Given the description of an element on the screen output the (x, y) to click on. 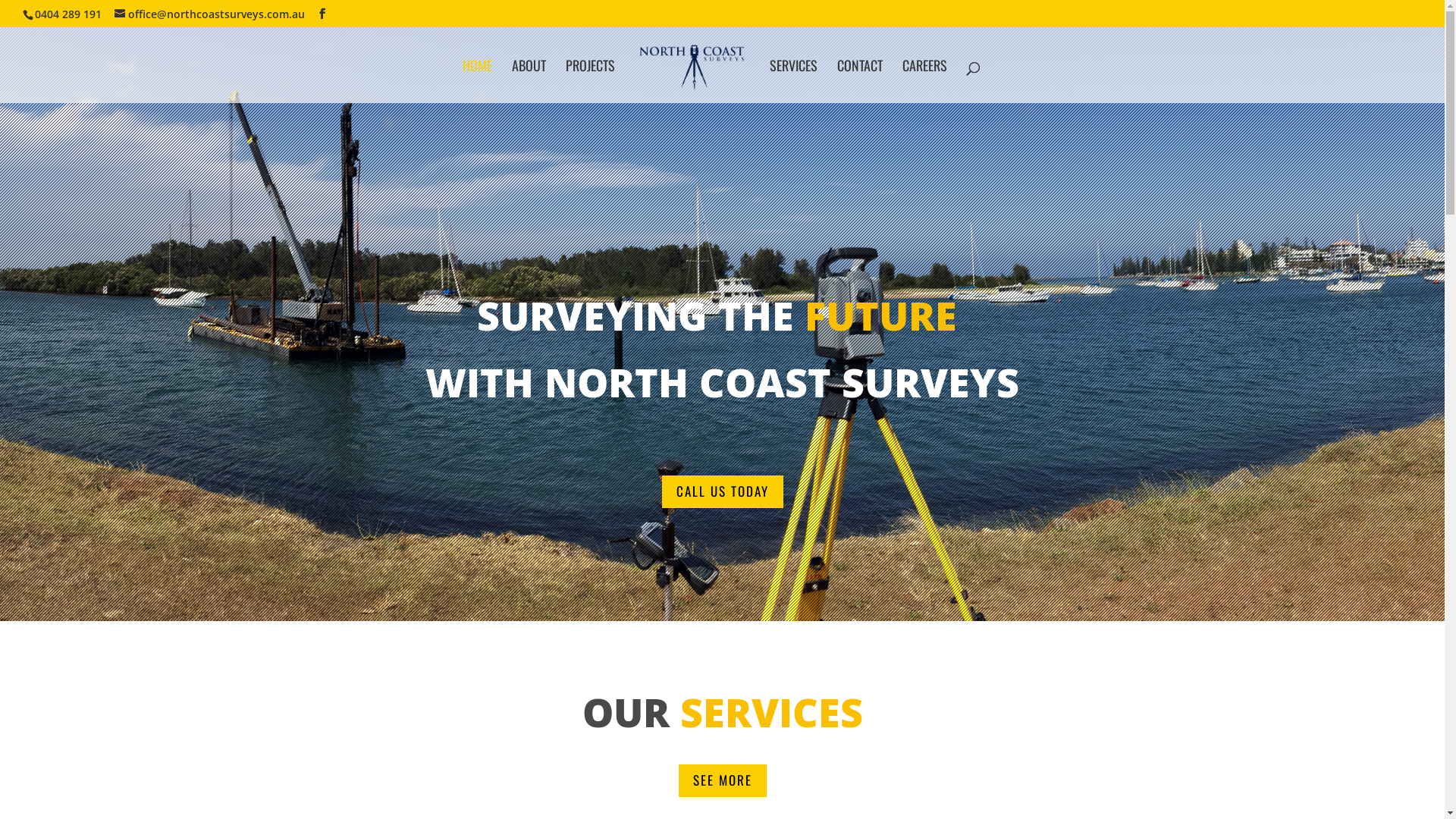
ABOUT Element type: text (528, 81)
CALL US TODAY Element type: text (721, 490)
office@northcoastsurveys.com.au Element type: text (209, 13)
0404 289 191 Element type: text (67, 13)
HOME Element type: text (477, 81)
CONTACT Element type: text (859, 81)
PROJECTS Element type: text (590, 81)
SERVICES Element type: text (793, 81)
CAREERS Element type: text (924, 81)
SEE MORE Element type: text (721, 780)
